Given the description of an element on the screen output the (x, y) to click on. 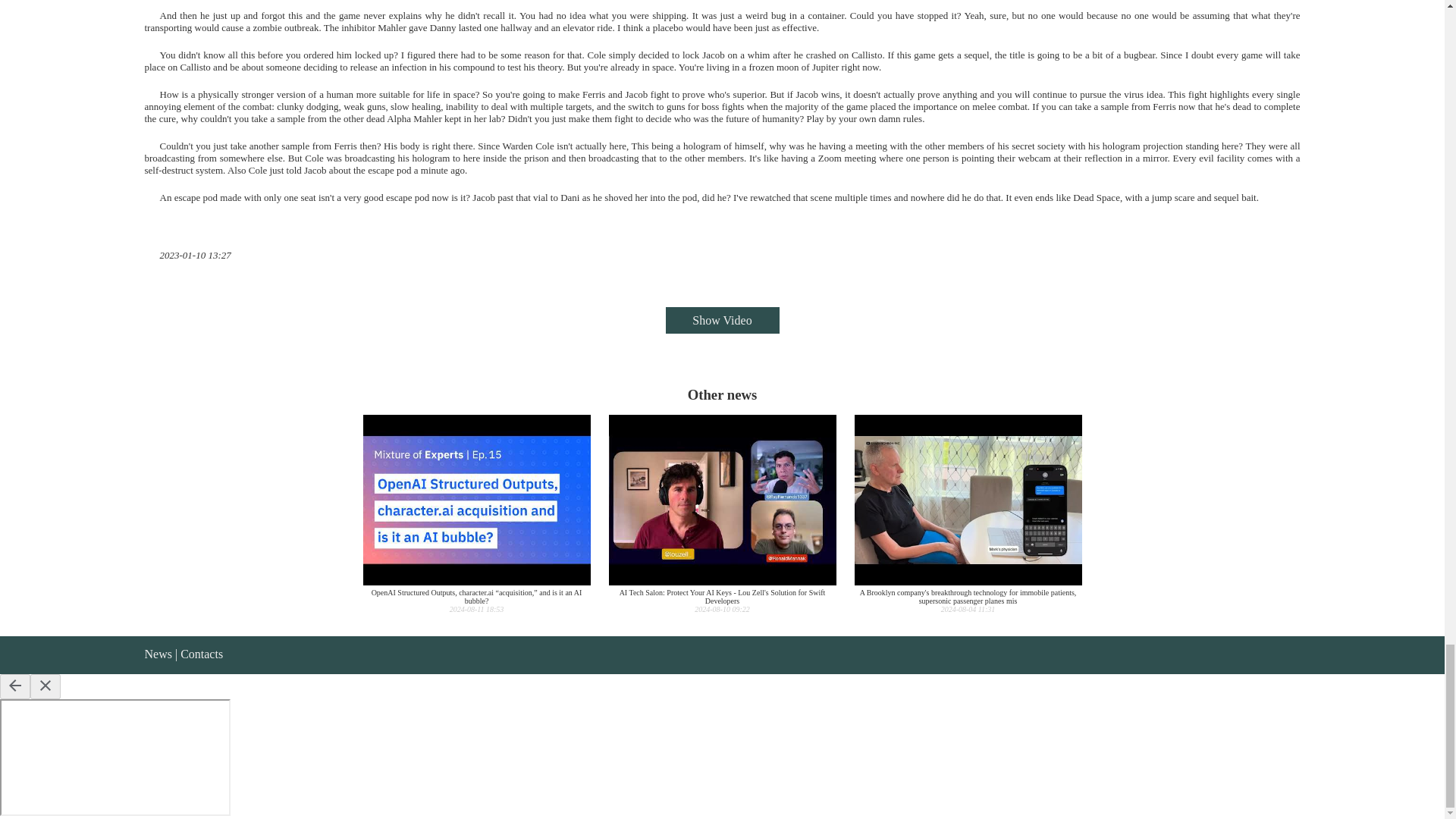
News (157, 653)
Contacts (201, 653)
